Given the description of an element on the screen output the (x, y) to click on. 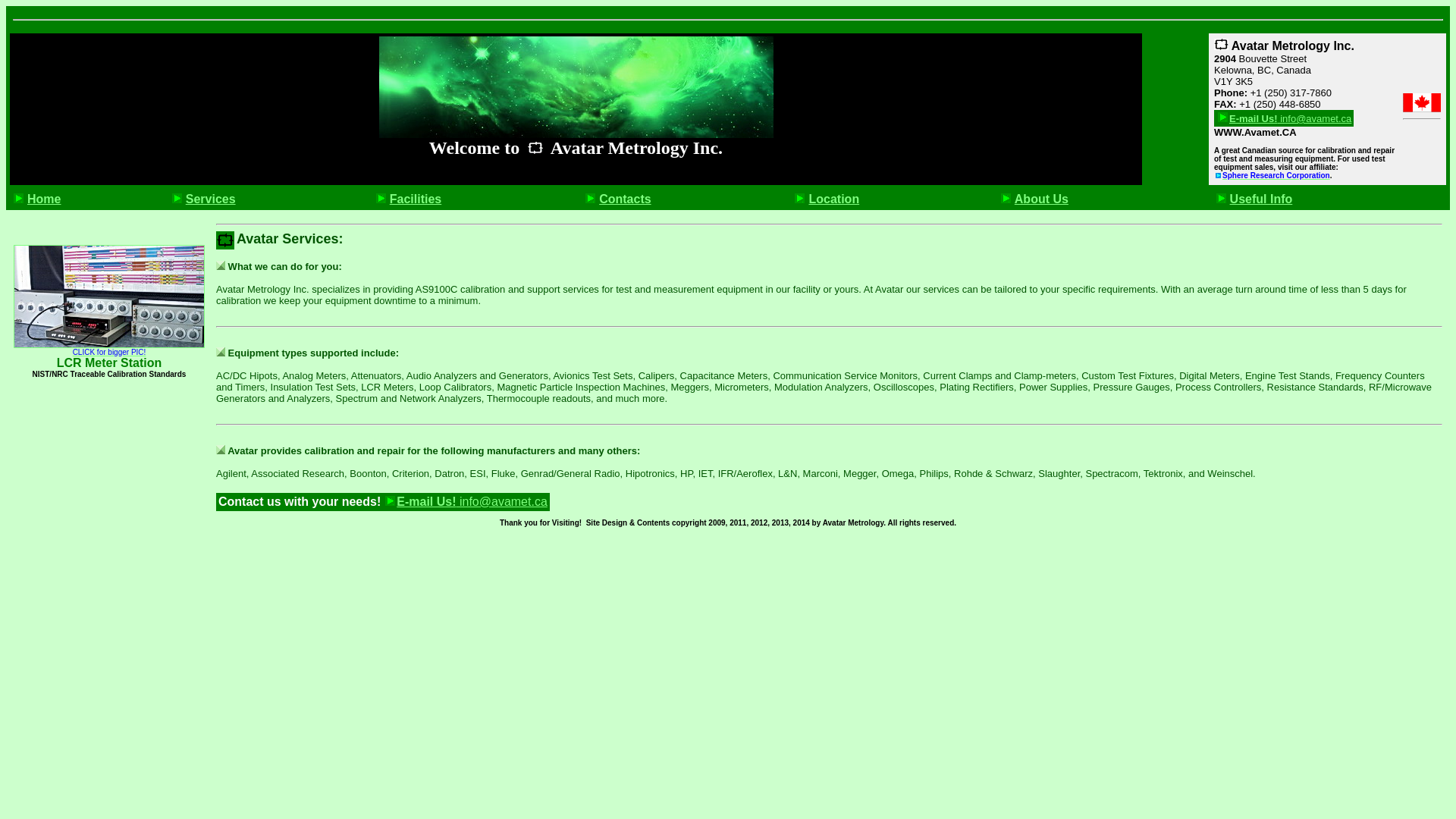
Facilities Element type: text (406, 198)
Home Element type: text (34, 198)
About Us Element type: text (1032, 198)
Location Element type: text (824, 198)
E-mail Us! info@avamet.ca Element type: text (465, 501)
E-mail Us! info@avamet.ca Element type: text (1283, 117)
Contacts Element type: text (615, 198)
Useful Info Element type: text (1252, 198)
CLICK for bigger PIC! Element type: text (108, 347)
Services Element type: text (201, 198)
Sphere Research Corporation Element type: text (1272, 175)
